Given the description of an element on the screen output the (x, y) to click on. 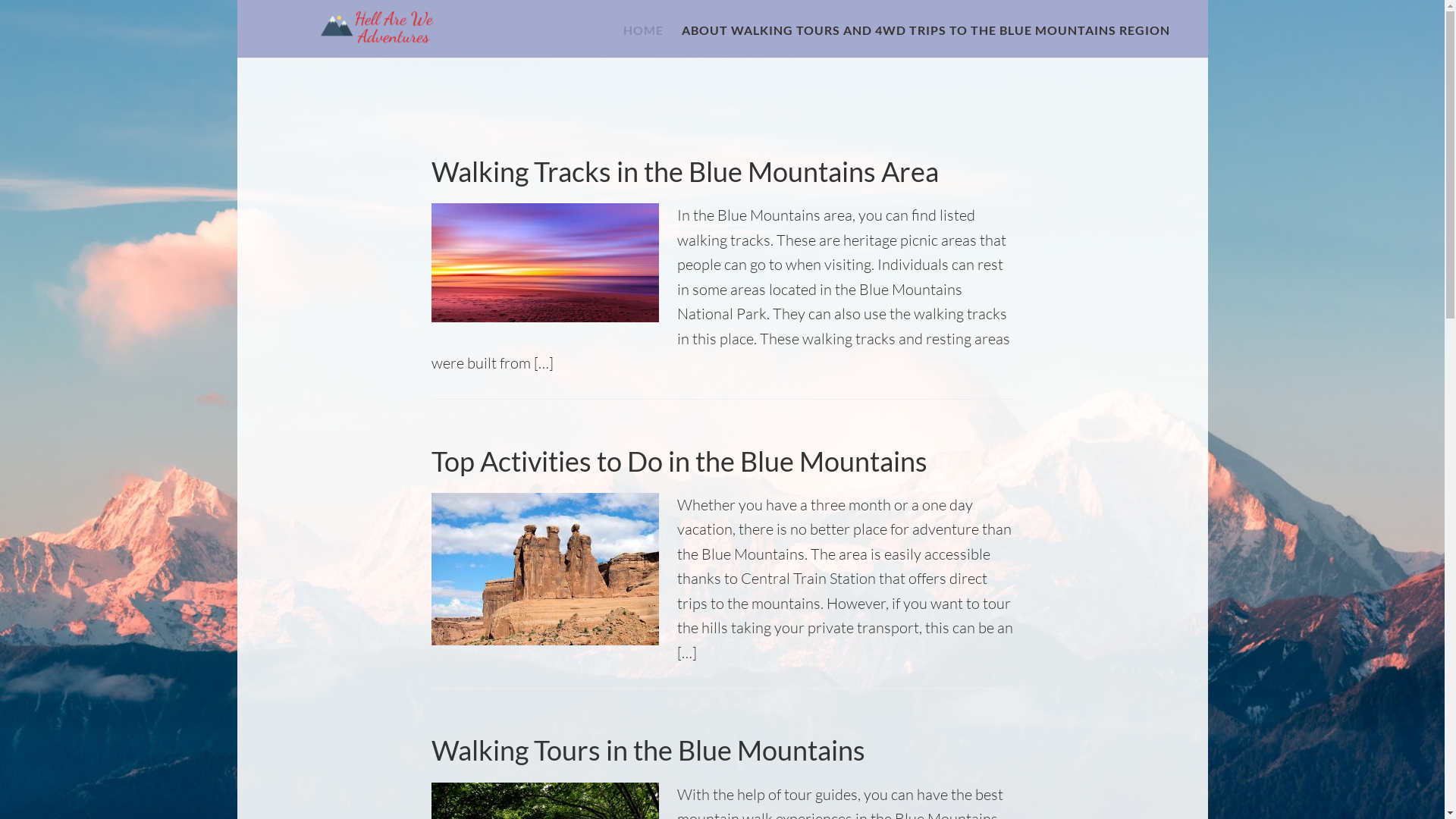
Skip to main content Element type: text (236, 0)
Walking Tours in the Blue Mountains Element type: text (647, 749)
Top Activities to Do in the Blue Mountains Element type: text (678, 460)
Walking Tracks in the Blue Mountains Area Element type: text (684, 171)
HOME Element type: text (643, 29)
HELLAREWEADVENTURES.COM.AU Element type: text (380, 28)
